Given the description of an element on the screen output the (x, y) to click on. 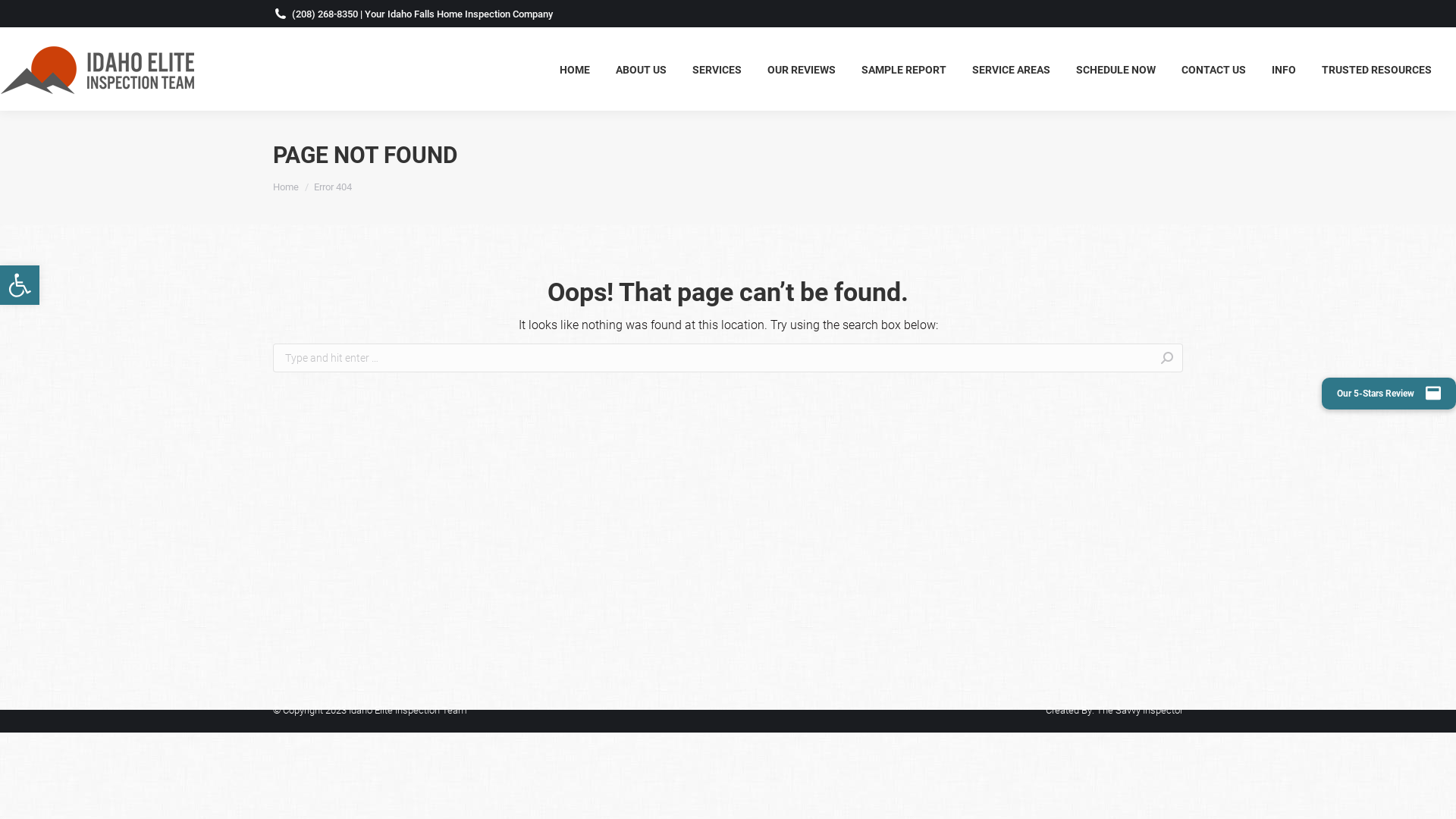
Home Element type: text (285, 185)
Open toolbar
Accessibility Tools Element type: text (19, 284)
OUR REVIEWS Element type: text (801, 68)
SERVICE AREAS Element type: text (1011, 68)
SAMPLE REPORT Element type: text (903, 68)
TRUSTED RESOURCES Element type: text (1376, 68)
Go! Element type: text (1206, 359)
CONTACT US Element type: text (1213, 68)
ABOUT US Element type: text (640, 68)
INFO Element type: text (1283, 68)
SERVICES Element type: text (716, 68)
SCHEDULE NOW Element type: text (1115, 68)
HOME Element type: text (574, 68)
